Given the description of an element on the screen output the (x, y) to click on. 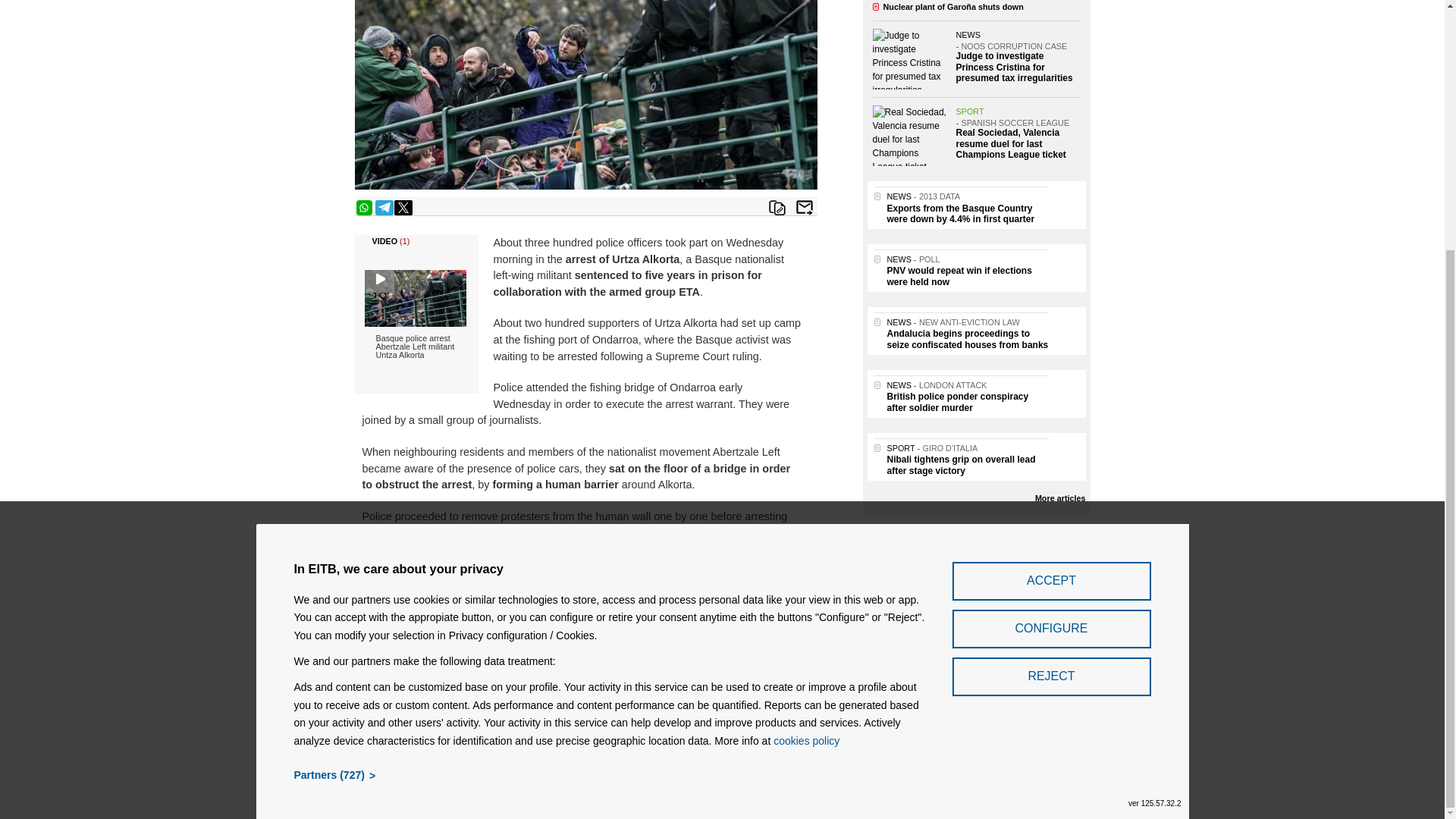
Basque police arrest Abertzale Left militant Untza Alkorta (415, 326)
